Given the description of an element on the screen output the (x, y) to click on. 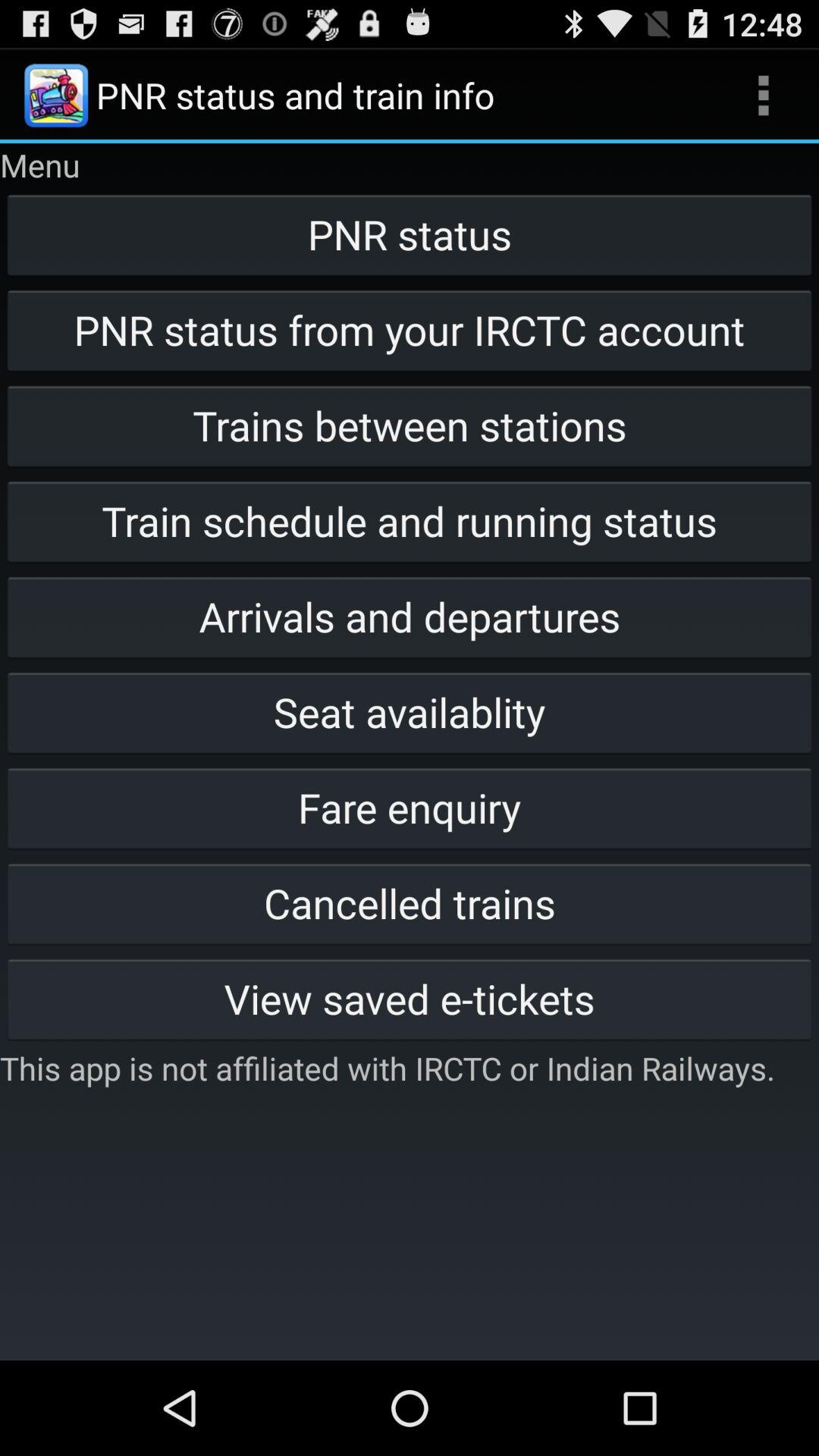
swipe to view saved e item (409, 998)
